Given the description of an element on the screen output the (x, y) to click on. 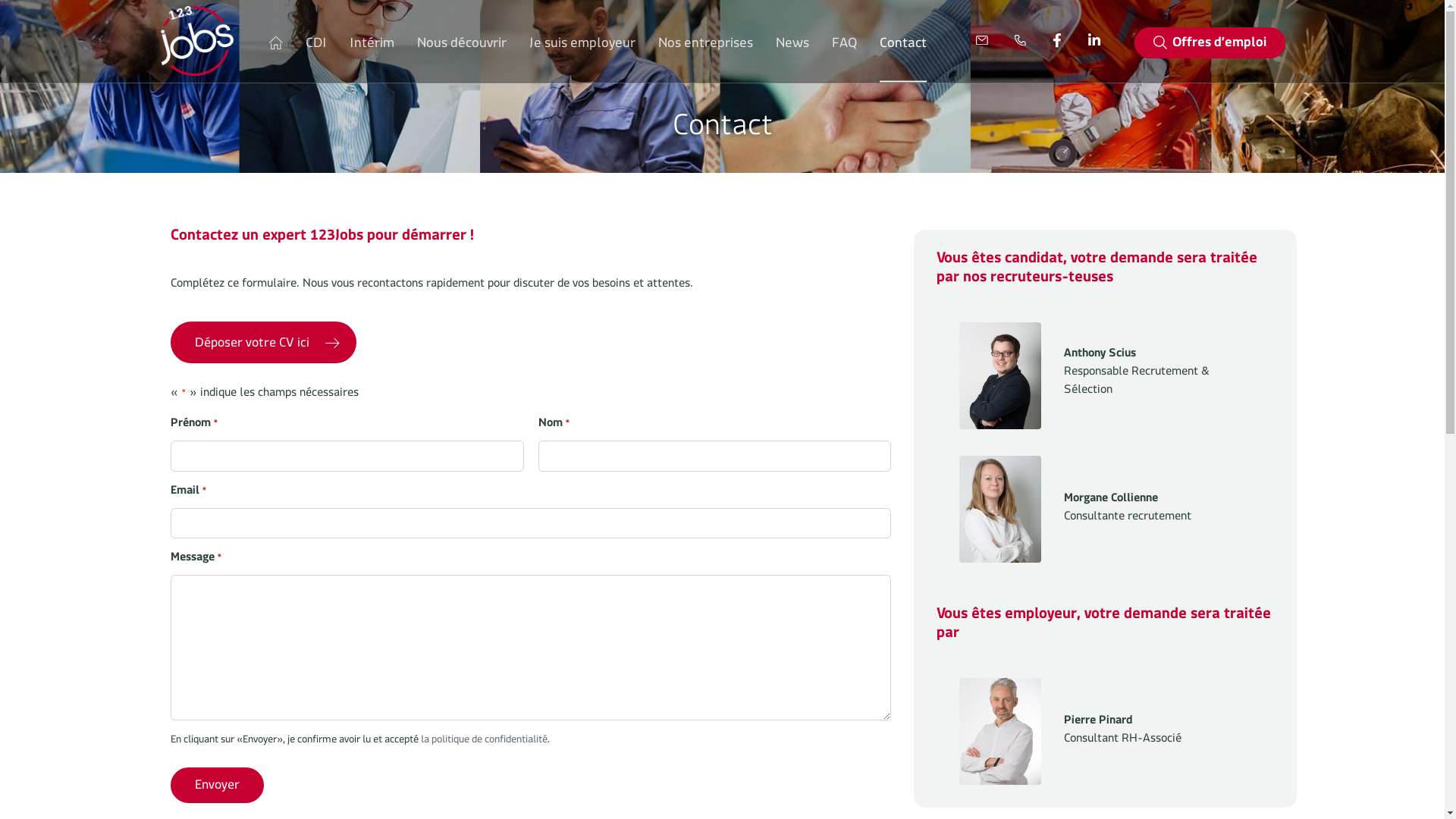
Envoyer Element type: text (216, 784)
Anthony Scius Element type: hover (1000, 375)
Pierre Pinard Element type: hover (1000, 730)
CDI Element type: text (315, 45)
FAQ Element type: text (843, 45)
Contact Element type: text (902, 46)
Je suis employeur Element type: text (582, 45)
Nos entreprises Element type: text (705, 45)
Morgane Collienne 1 Element type: hover (1000, 508)
News Element type: text (792, 45)
